Given the description of an element on the screen output the (x, y) to click on. 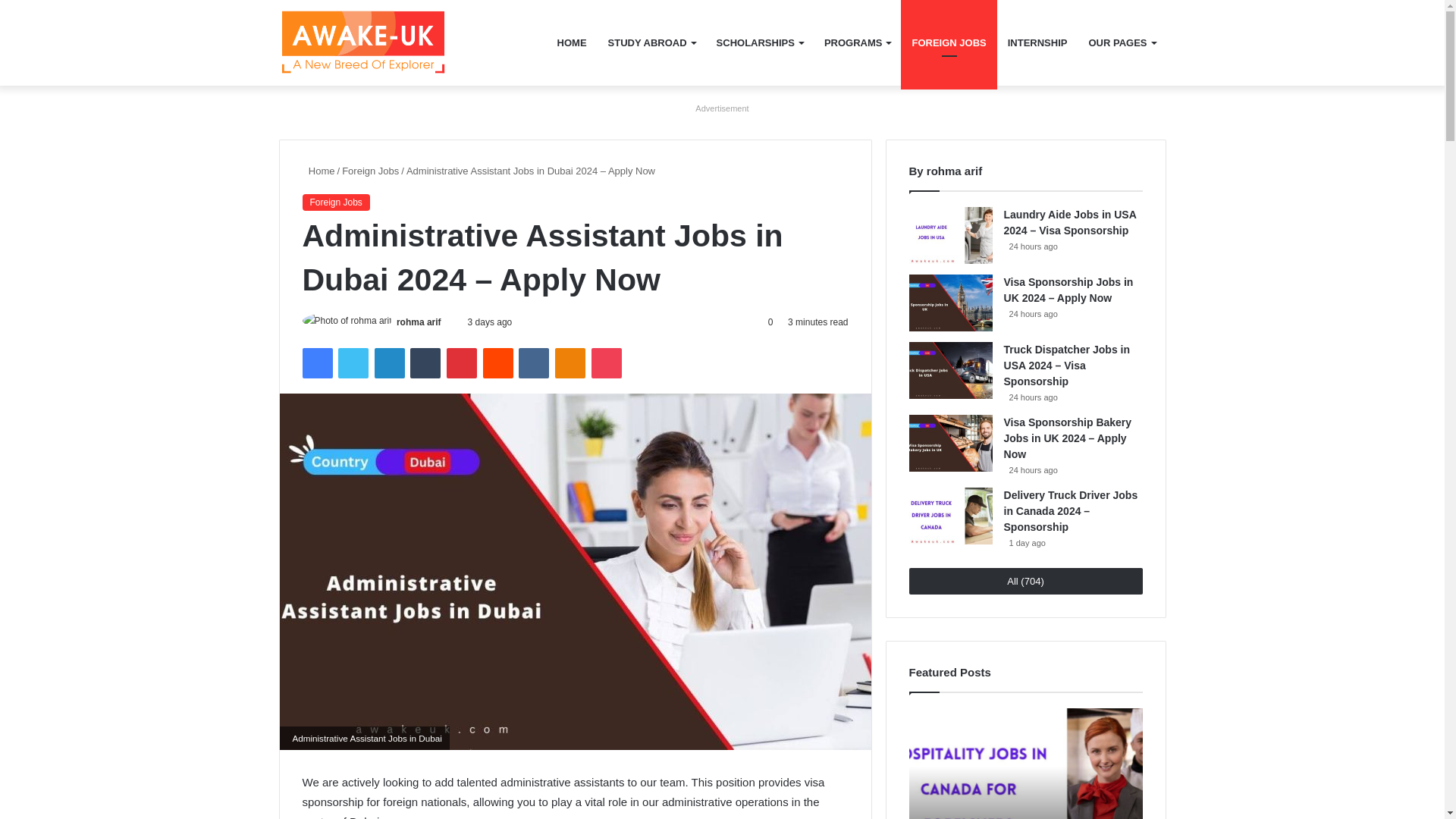
Pinterest (461, 363)
VKontakte (533, 363)
INTERNSHIP (1037, 42)
Twitter (352, 363)
OUR PAGES (1121, 42)
Pocket (606, 363)
STUDY ABROAD (651, 42)
Reddit (498, 363)
LinkedIn (389, 363)
Foreign Jobs (370, 170)
